Given the description of an element on the screen output the (x, y) to click on. 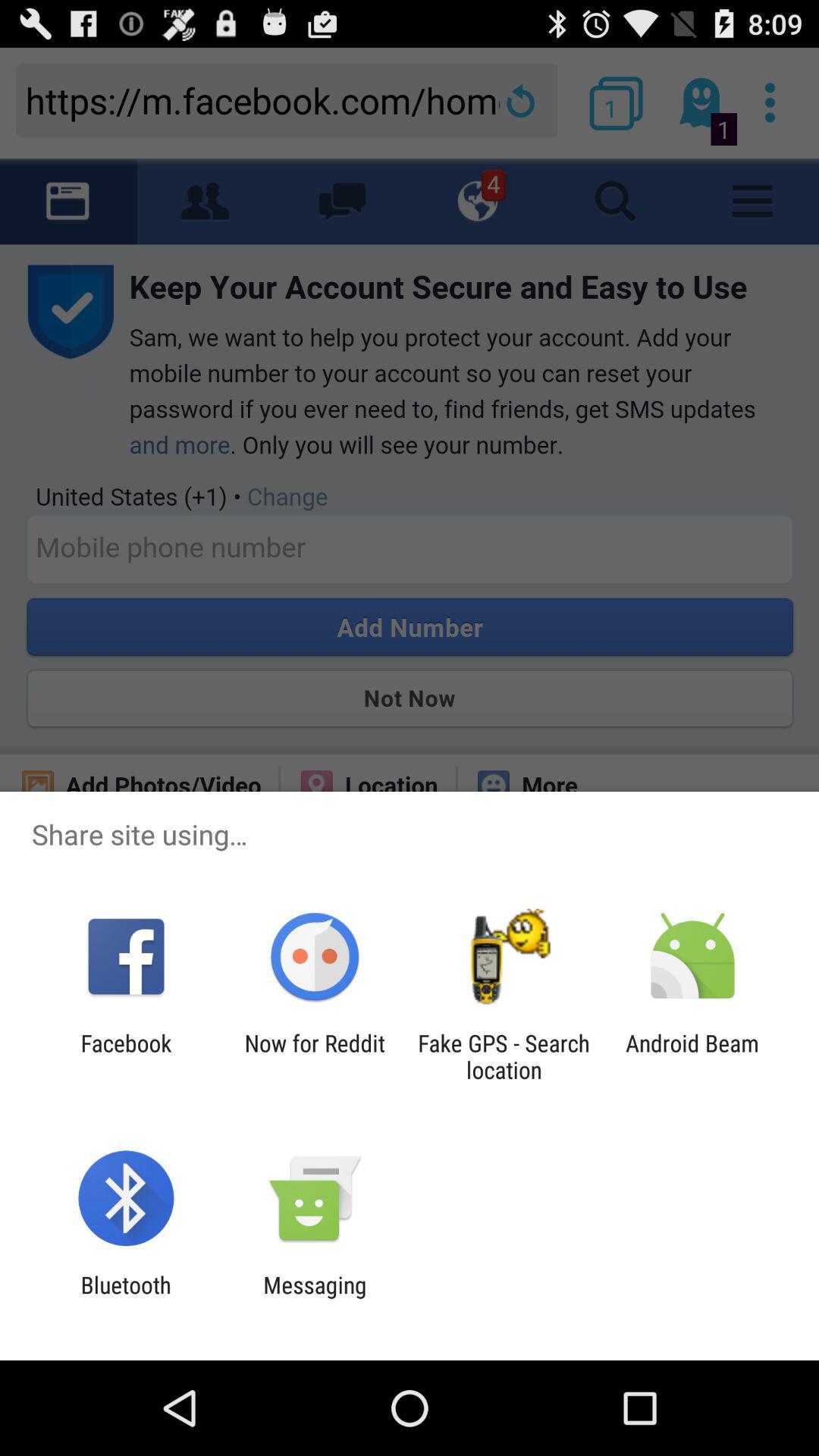
click app next to now for reddit icon (503, 1056)
